Given the description of an element on the screen output the (x, y) to click on. 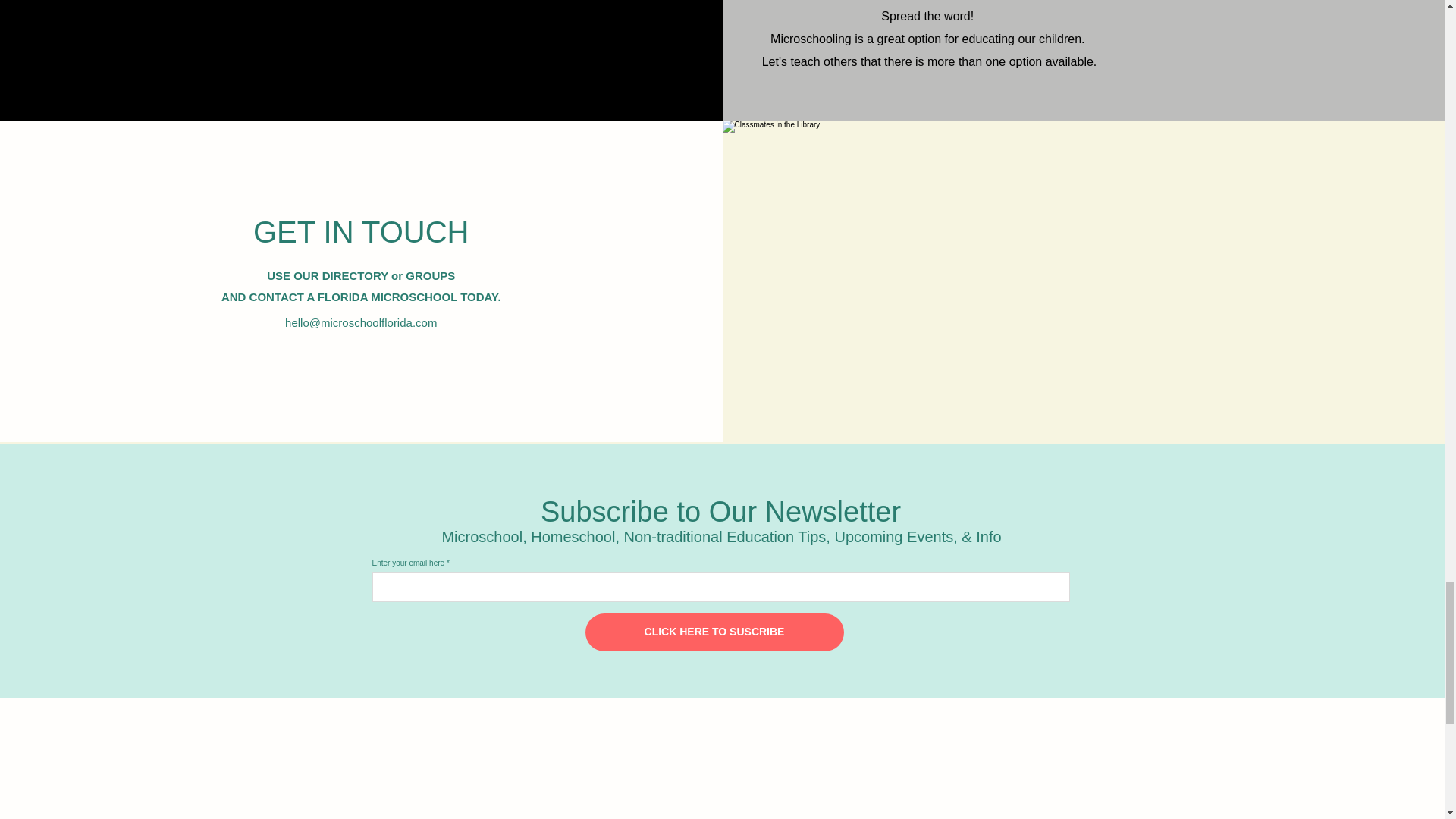
GROUPS (430, 275)
DIRECTORY (354, 275)
CLICK HERE TO SUSCRIBE (714, 632)
